Given the description of an element on the screen output the (x, y) to click on. 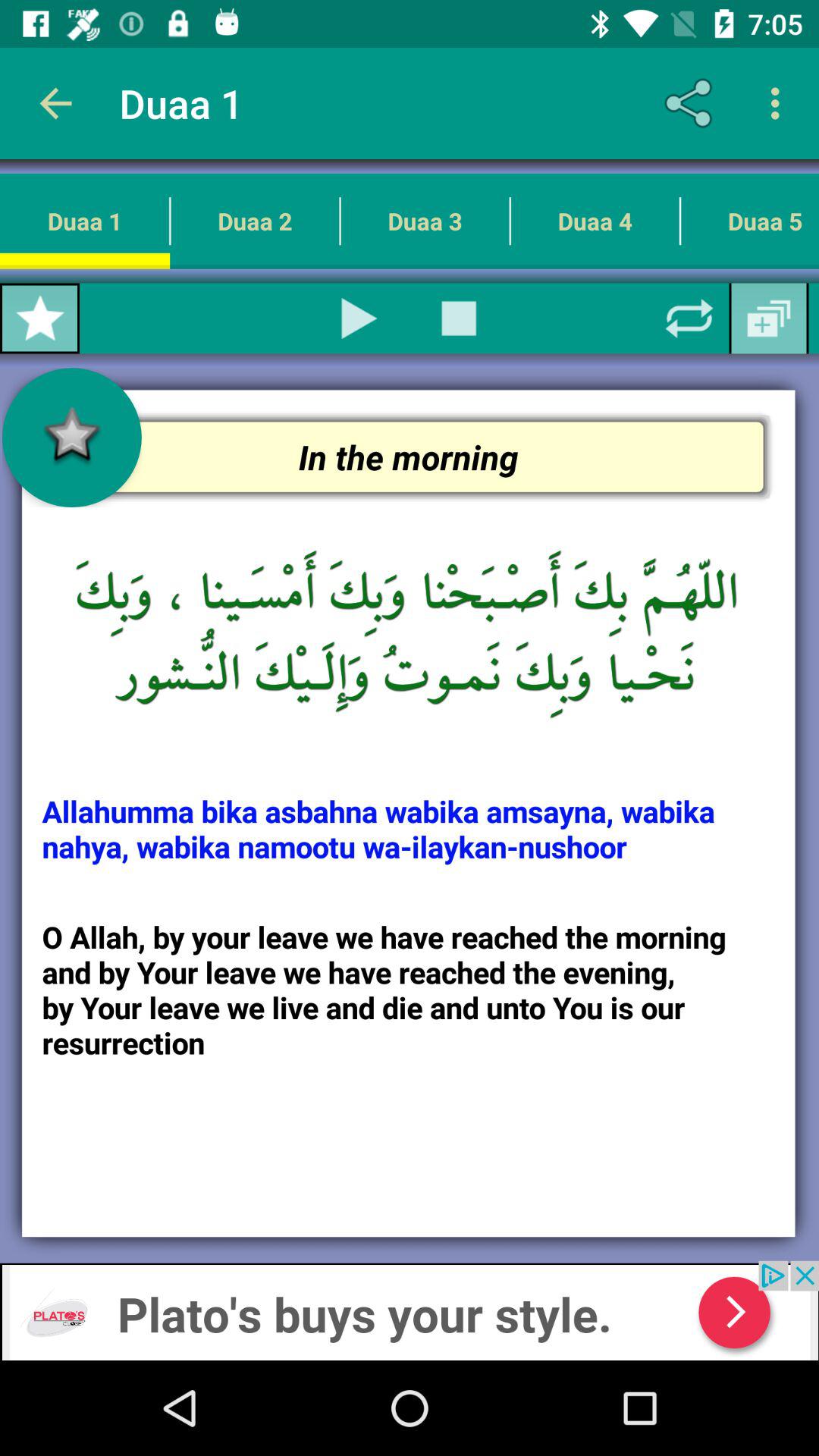
press duaa 4 item (595, 221)
